Given the description of an element on the screen output the (x, y) to click on. 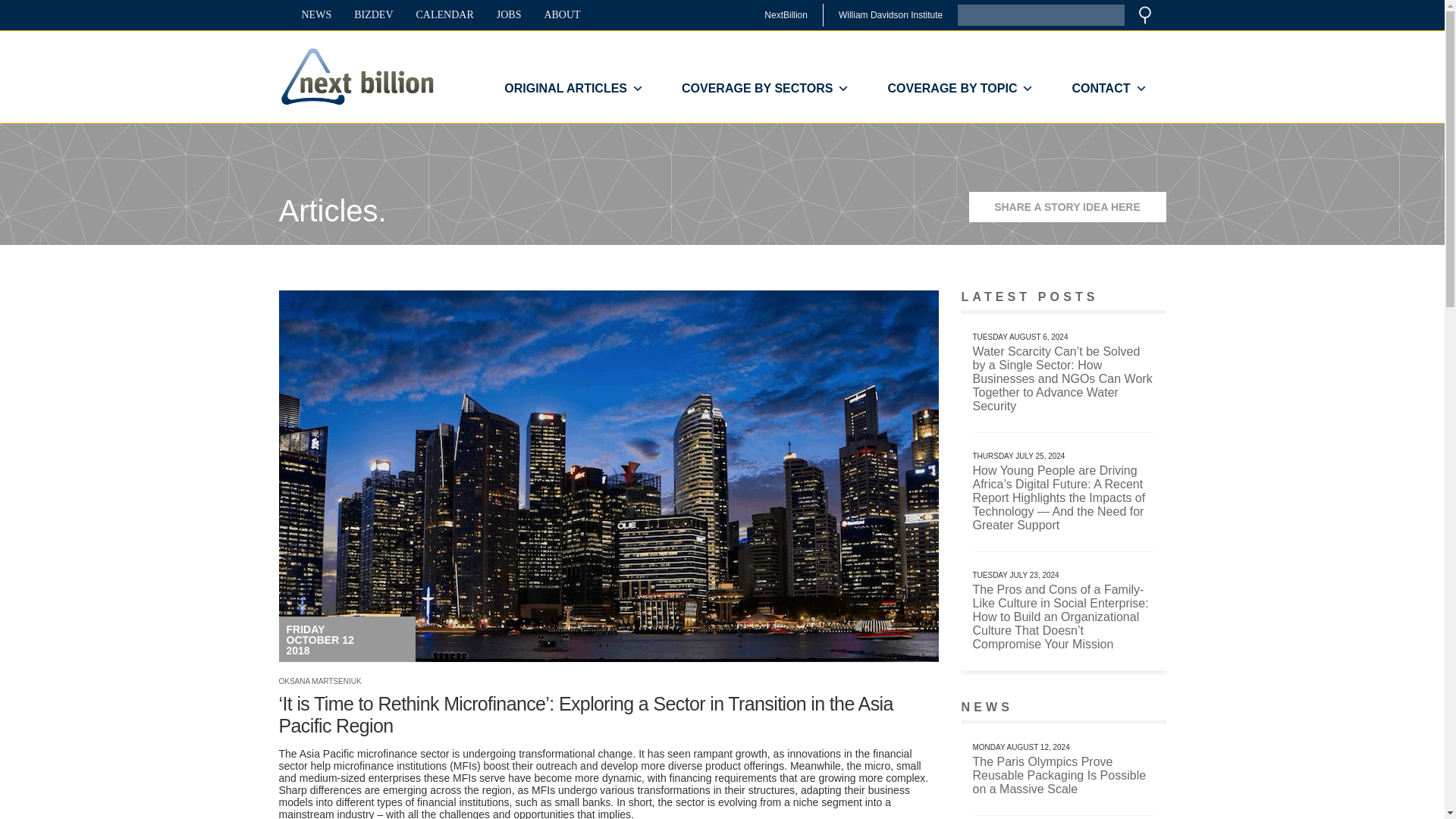
COVERAGE BY TOPIC (959, 88)
ORIGINAL ARTICLES (573, 88)
COVERAGE BY SECTORS (764, 88)
